Given the description of an element on the screen output the (x, y) to click on. 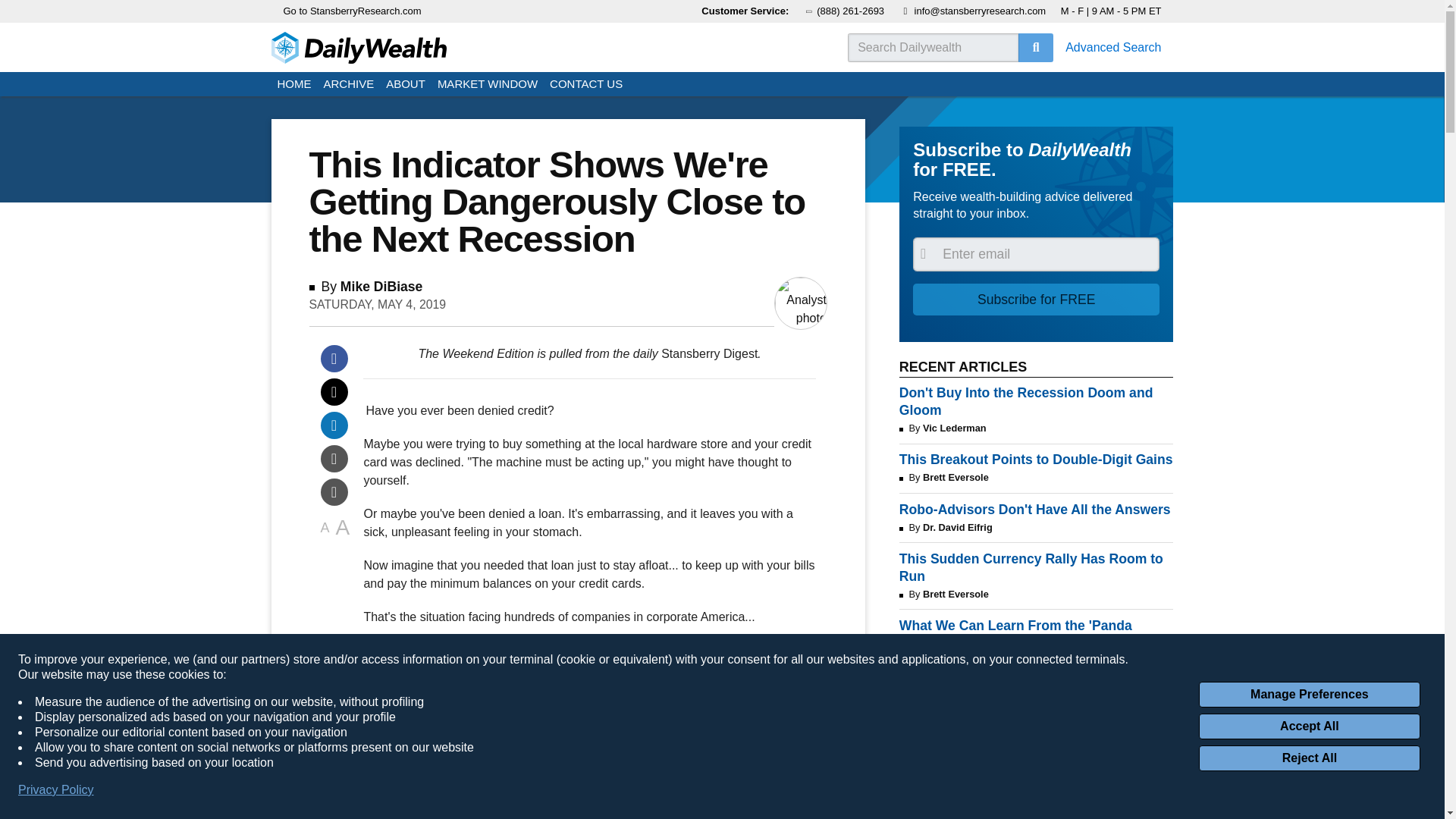
MARKET WINDOW (486, 84)
Reject All (1309, 758)
ABOUT (405, 84)
Go to StansberryResearch.com (352, 11)
Privacy Policy (55, 789)
Accept All (1309, 726)
Manage Preferences (1309, 694)
This Breakout Points to Double-Digit Gains (1036, 459)
ARCHIVE (348, 84)
Don't Buy Into the Recession Doom and Gloom (1036, 401)
